Given the description of an element on the screen output the (x, y) to click on. 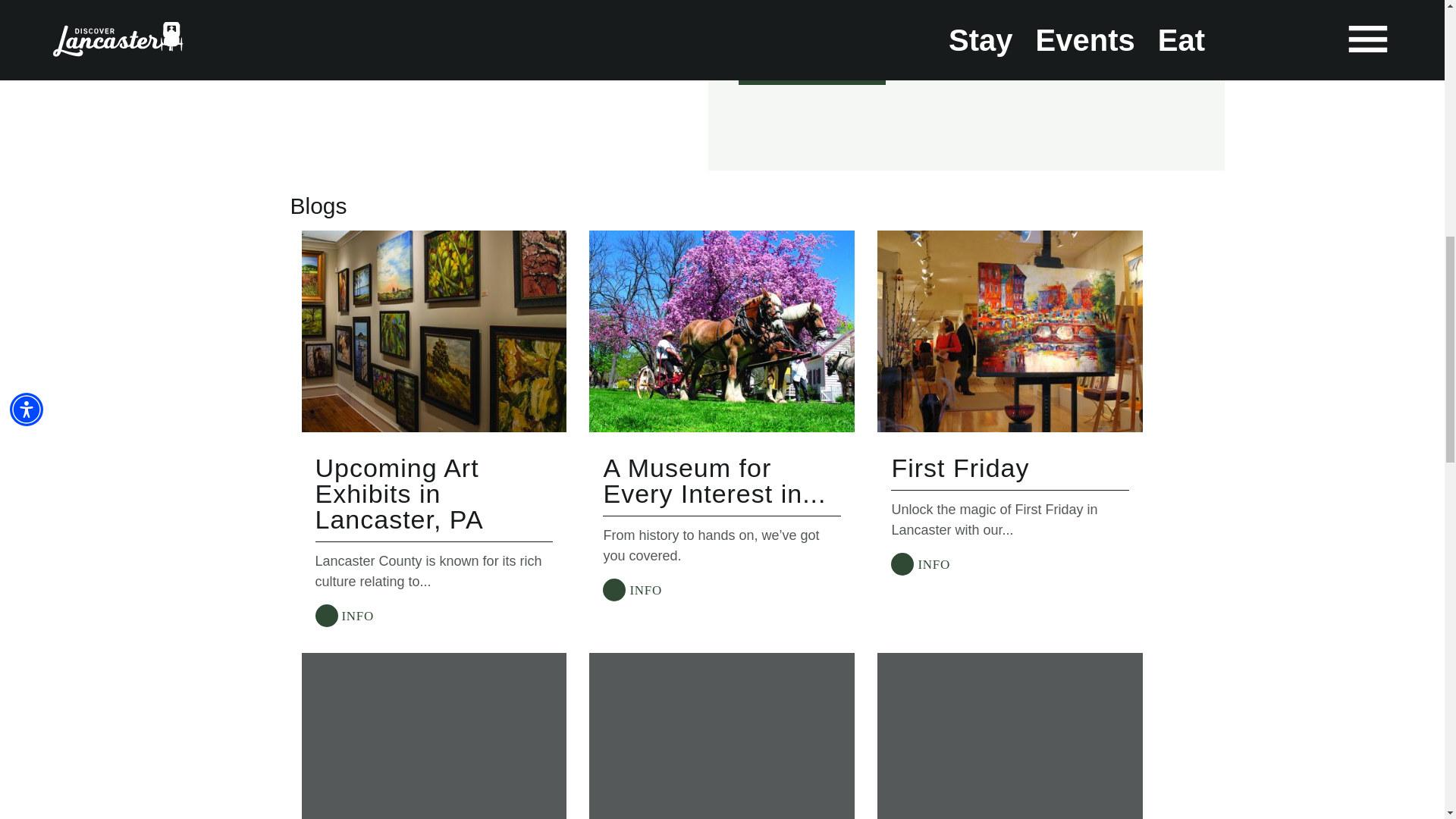
INFO (920, 563)
First Friday (960, 467)
VISIT WEBSITE (815, 32)
Upcoming Art Exhibits in Lancaster, PA (399, 493)
SHOP ONLINE (811, 70)
INFO (631, 589)
INFO (345, 615)
A Museum for Every Interest in... (713, 480)
